Given the description of an element on the screen output the (x, y) to click on. 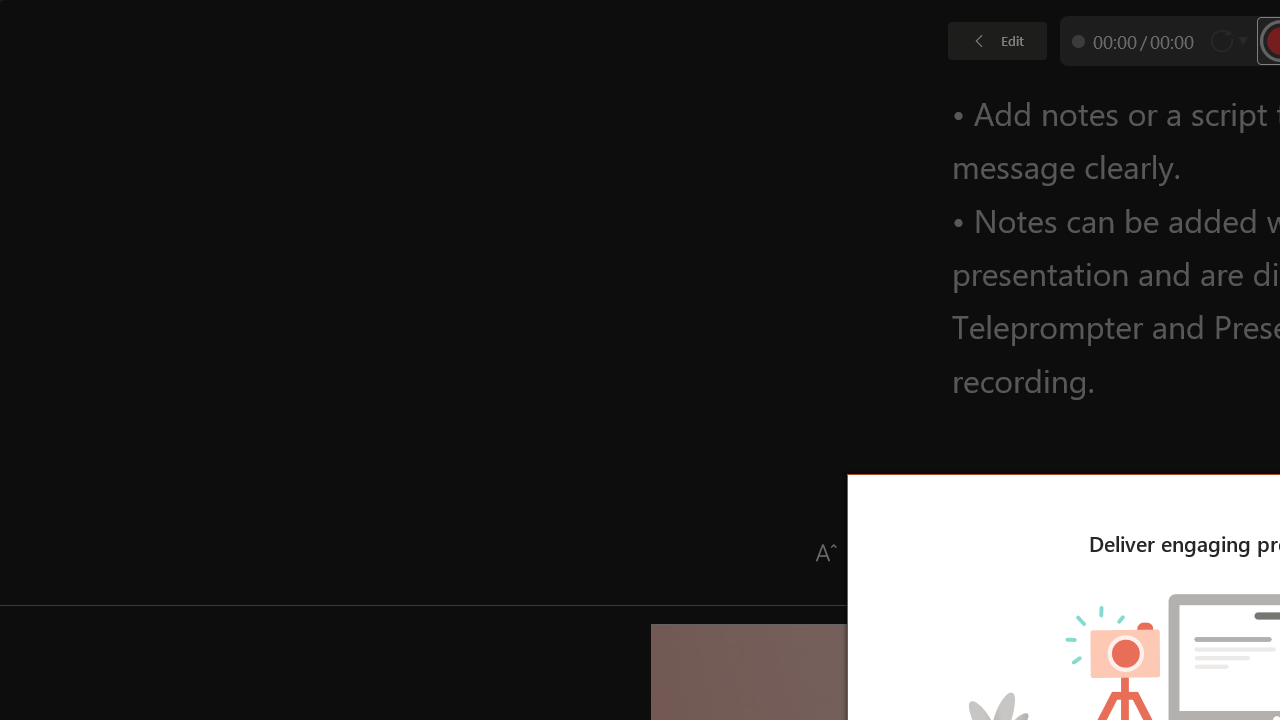
Basis (1172, 100)
Integral (429, 100)
AfterglowVTI (57, 100)
Gallery (336, 100)
Organic (708, 100)
Office Theme (150, 100)
